Given the description of an element on the screen output the (x, y) to click on. 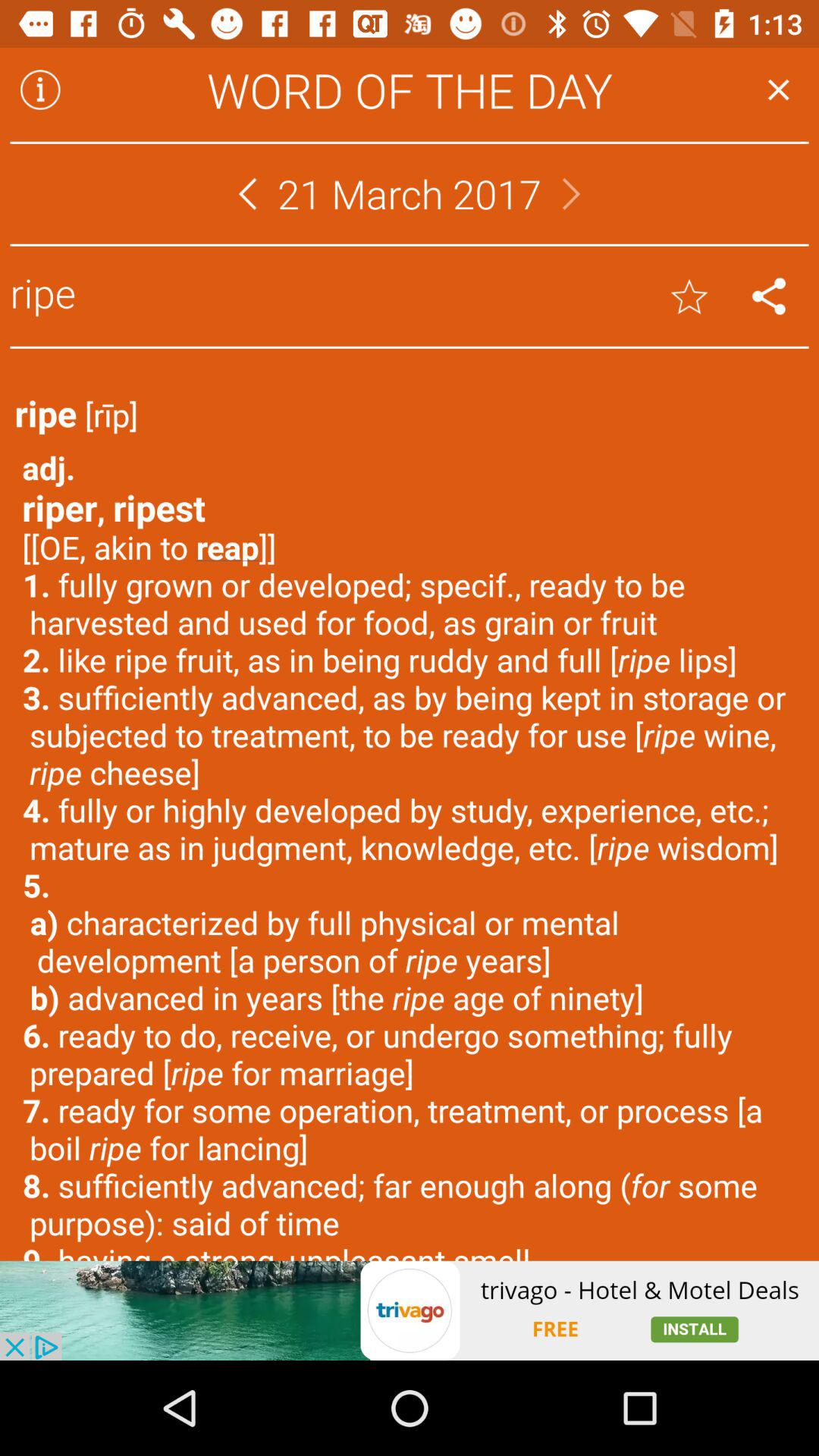
share button (768, 296)
